Given the description of an element on the screen output the (x, y) to click on. 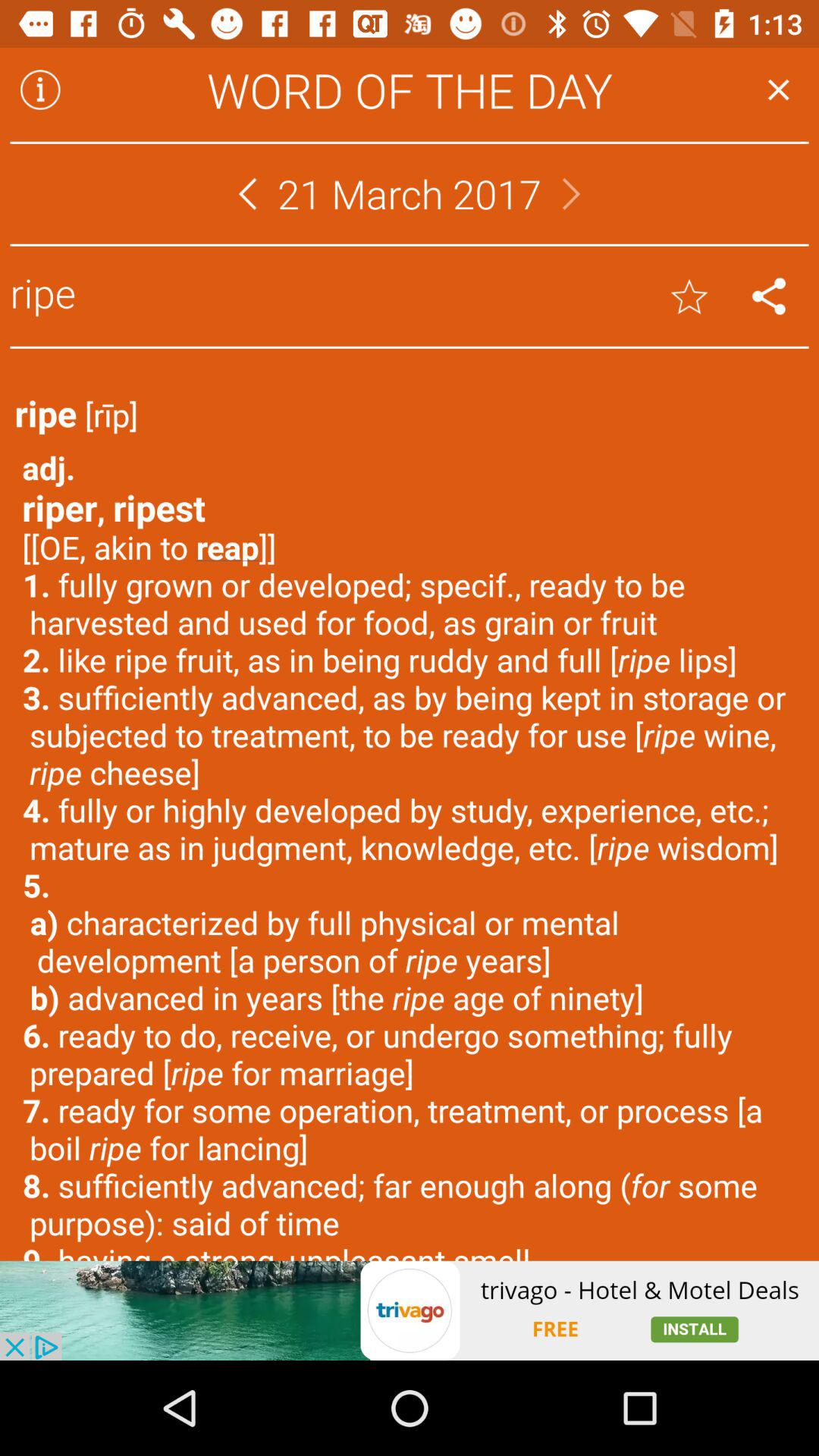
share button (768, 296)
